Given the description of an element on the screen output the (x, y) to click on. 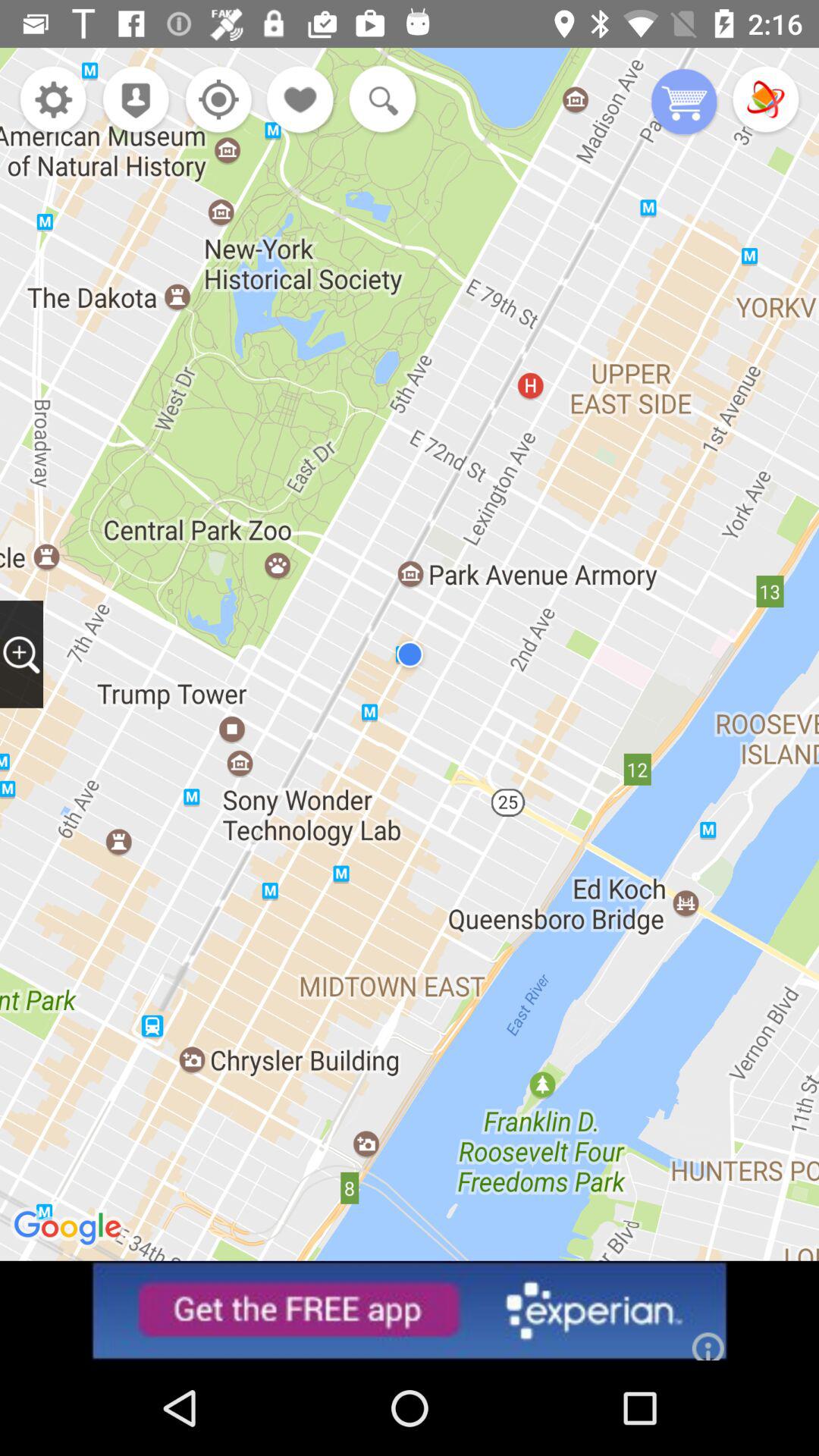
search button (379, 100)
